Given the description of an element on the screen output the (x, y) to click on. 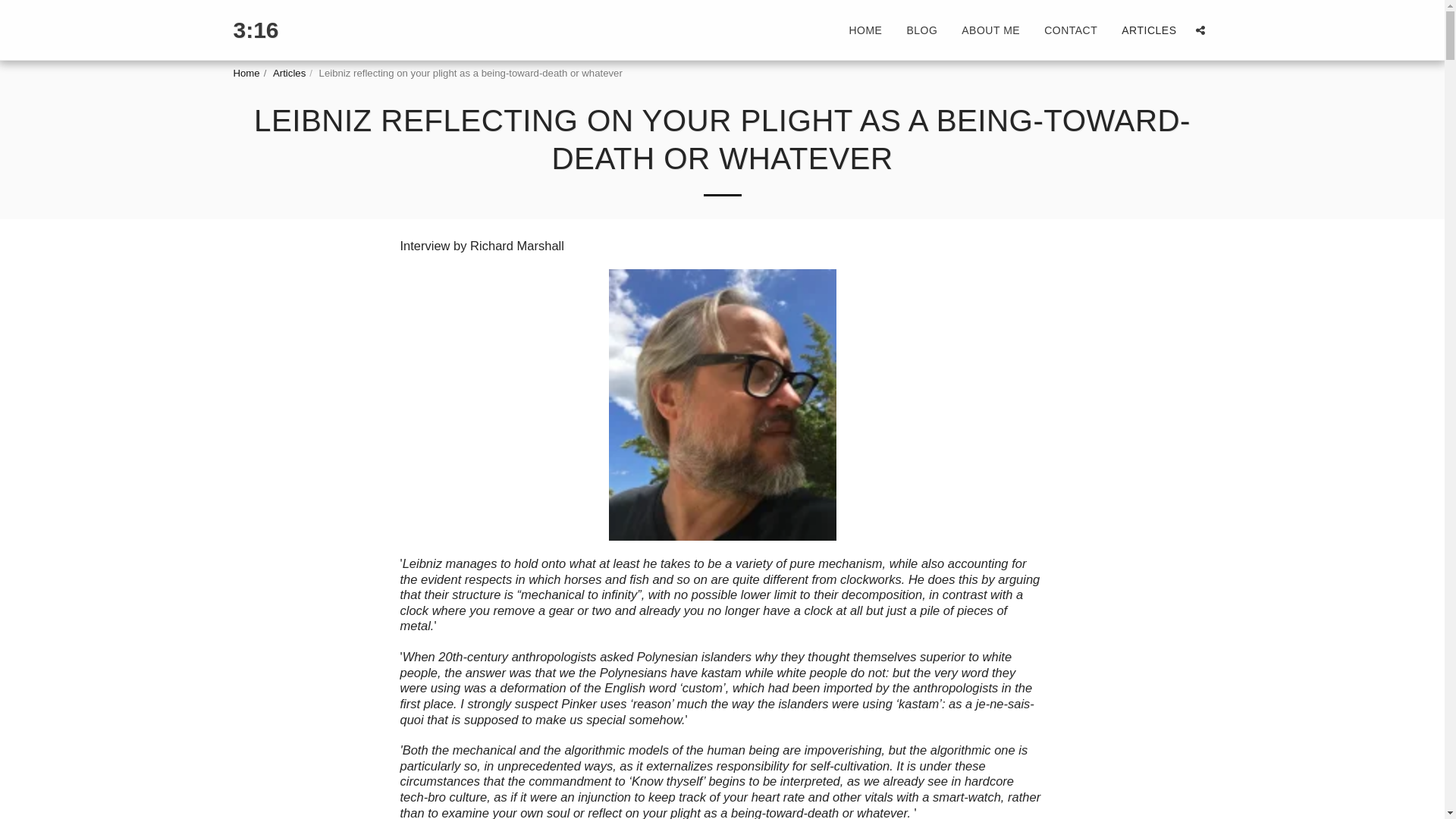
HOME (865, 29)
ARTICLES (1148, 29)
BLOG (922, 29)
Home (246, 72)
ABOUT ME (990, 29)
Articles (289, 72)
CONTACT (1070, 29)
